Given the description of an element on the screen output the (x, y) to click on. 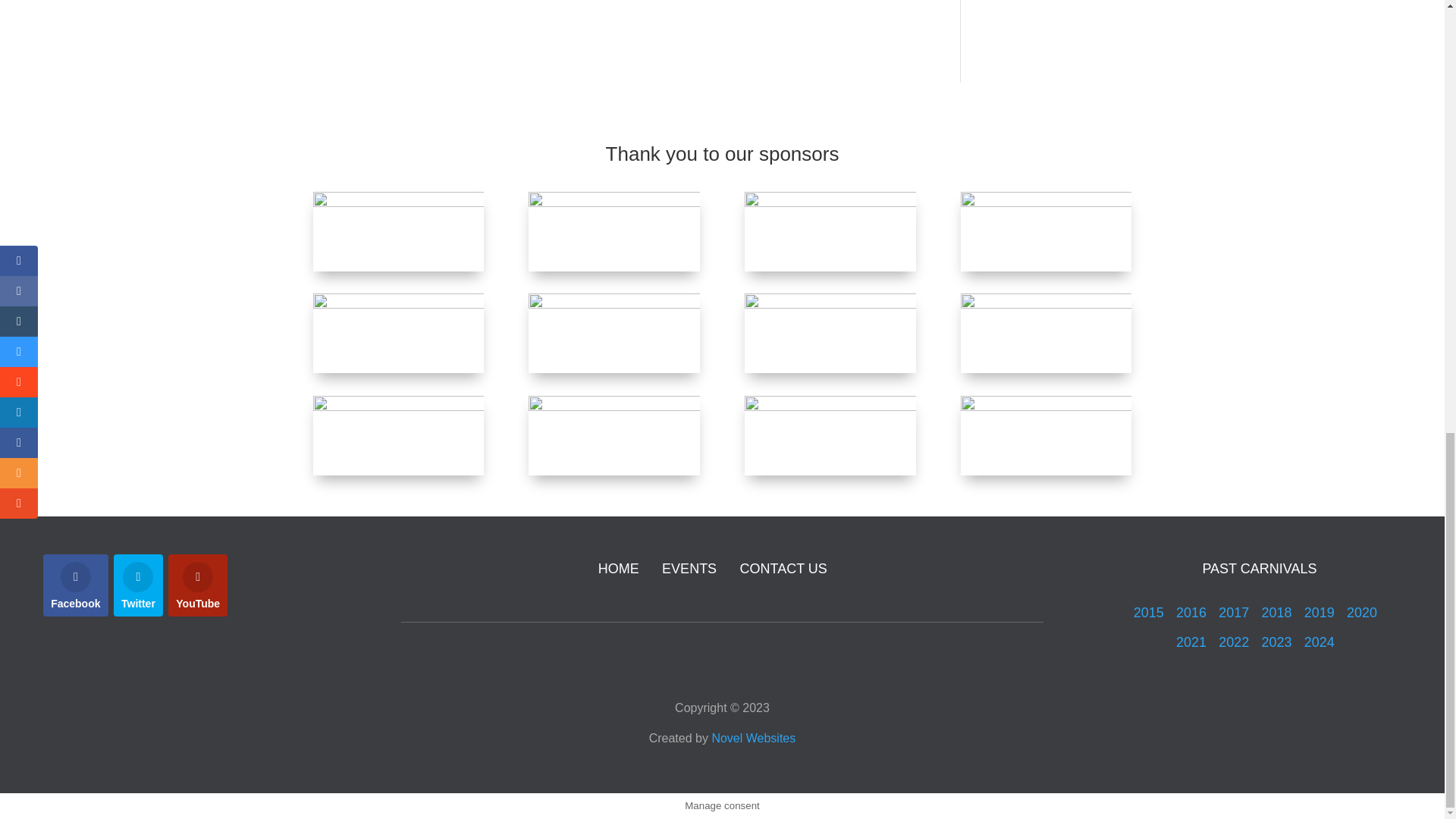
2016 (1192, 612)
EVENTS (689, 568)
Rotary - Wrexham (613, 333)
YouTube (197, 585)
HOME (618, 568)
Martin Rees (1045, 333)
SIlverwood (398, 333)
All Words Matter (398, 231)
Lot 11 (398, 435)
Literature Wales (1045, 231)
CONTACT US (783, 568)
Facebook (75, 585)
2017 (1233, 612)
GHP Legal (613, 435)
Novel Websites (752, 738)
